Given the description of an element on the screen output the (x, y) to click on. 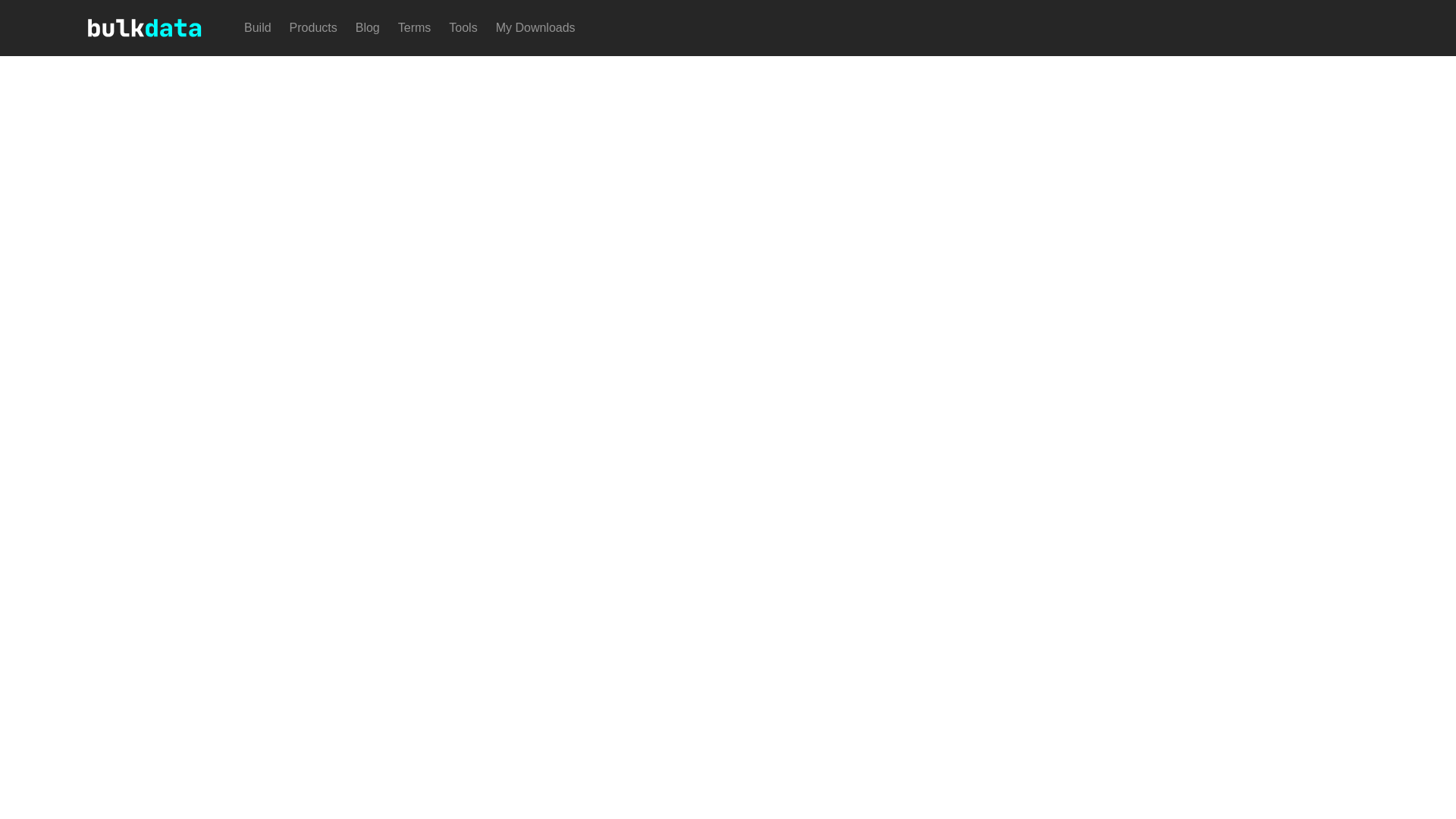
Blog (367, 28)
My Downloads (534, 28)
Products (313, 28)
Terms (414, 28)
Tools (462, 28)
Build (258, 28)
